Given the description of an element on the screen output the (x, y) to click on. 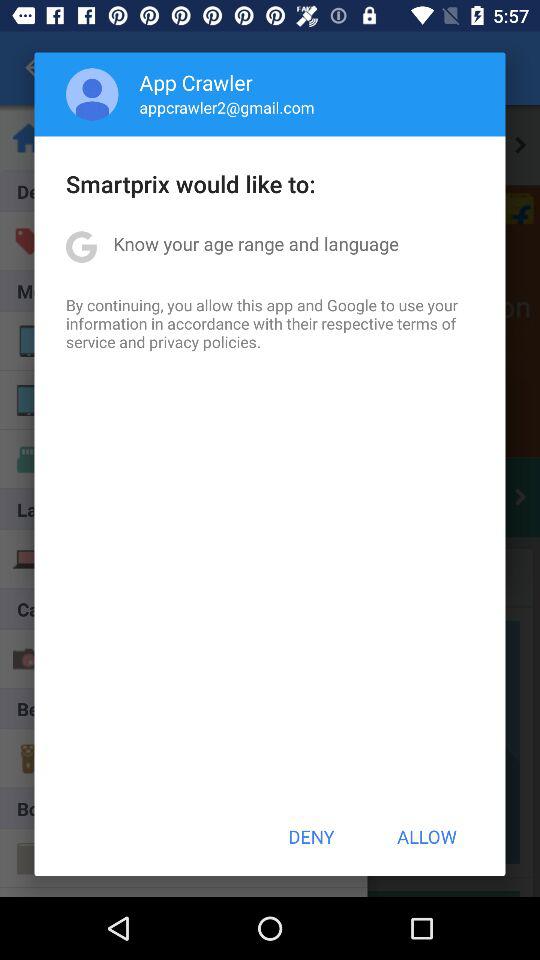
open app above the appcrawler2@gmail.com (195, 82)
